Given the description of an element on the screen output the (x, y) to click on. 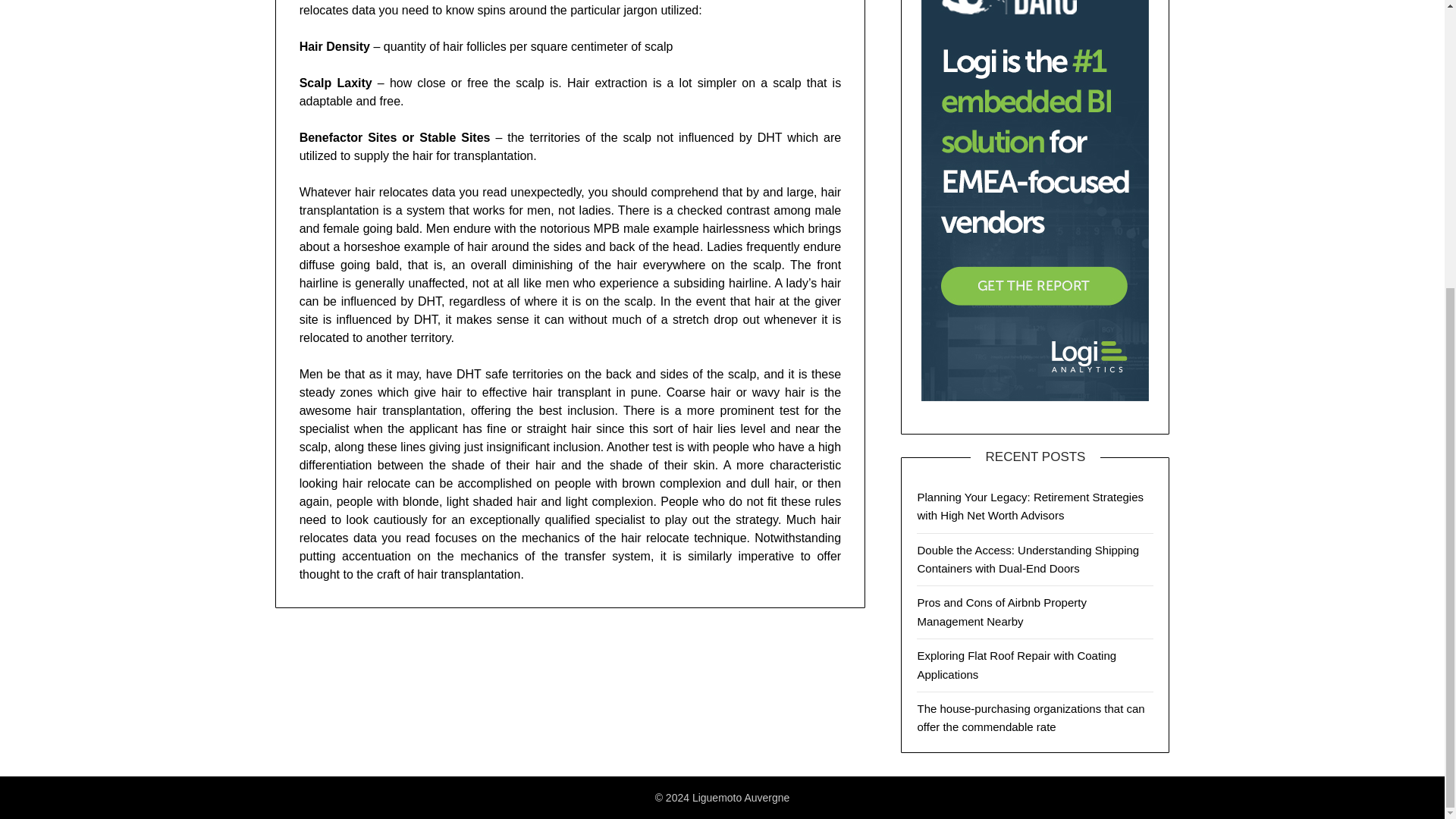
Exploring Flat Roof Repair with Coating Applications (1016, 664)
Pros and Cons of Airbnb Property Management Nearby (1001, 611)
